Given the description of an element on the screen output the (x, y) to click on. 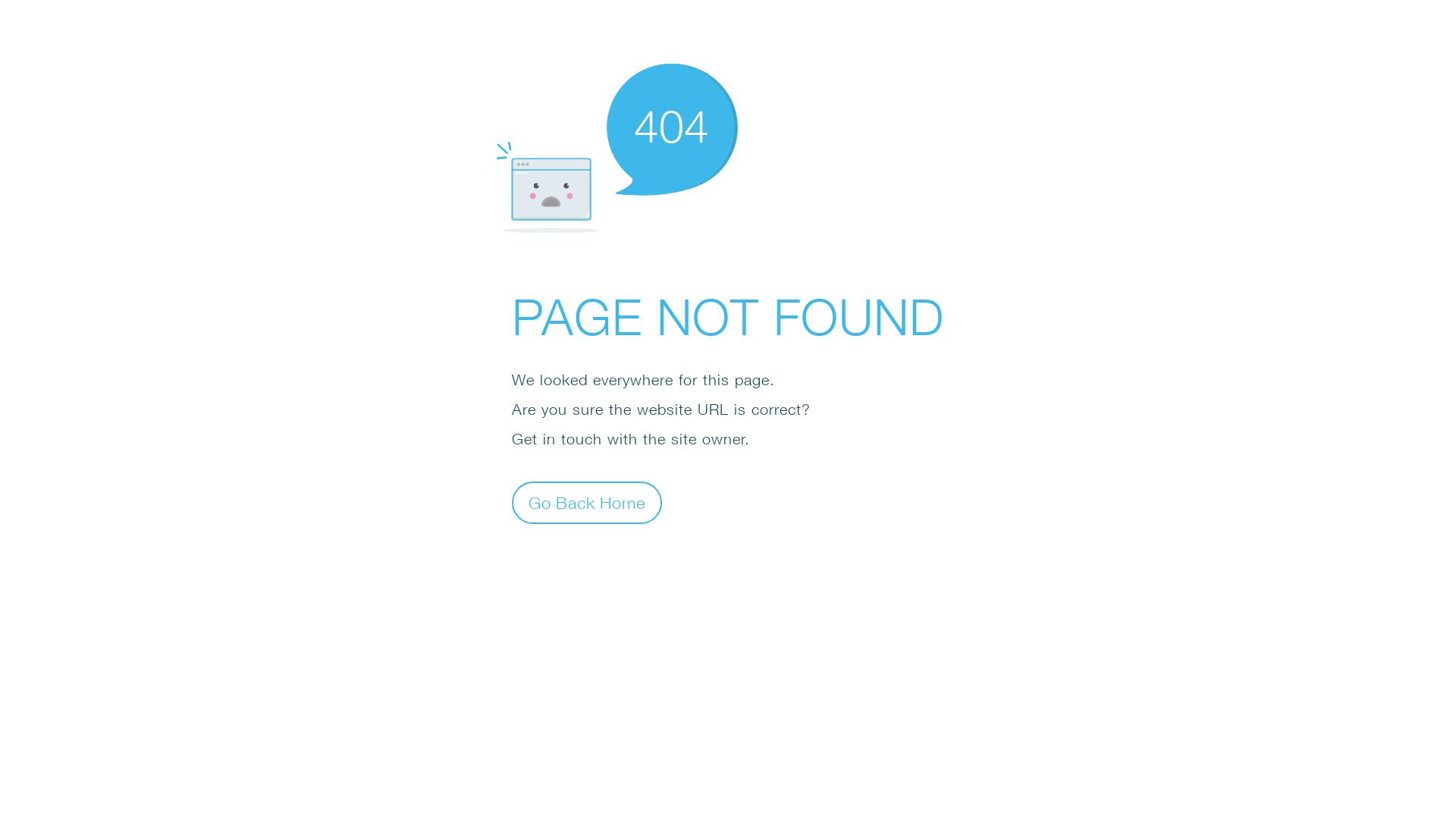
Go Back Home Element type: text (586, 502)
